Given the description of an element on the screen output the (x, y) to click on. 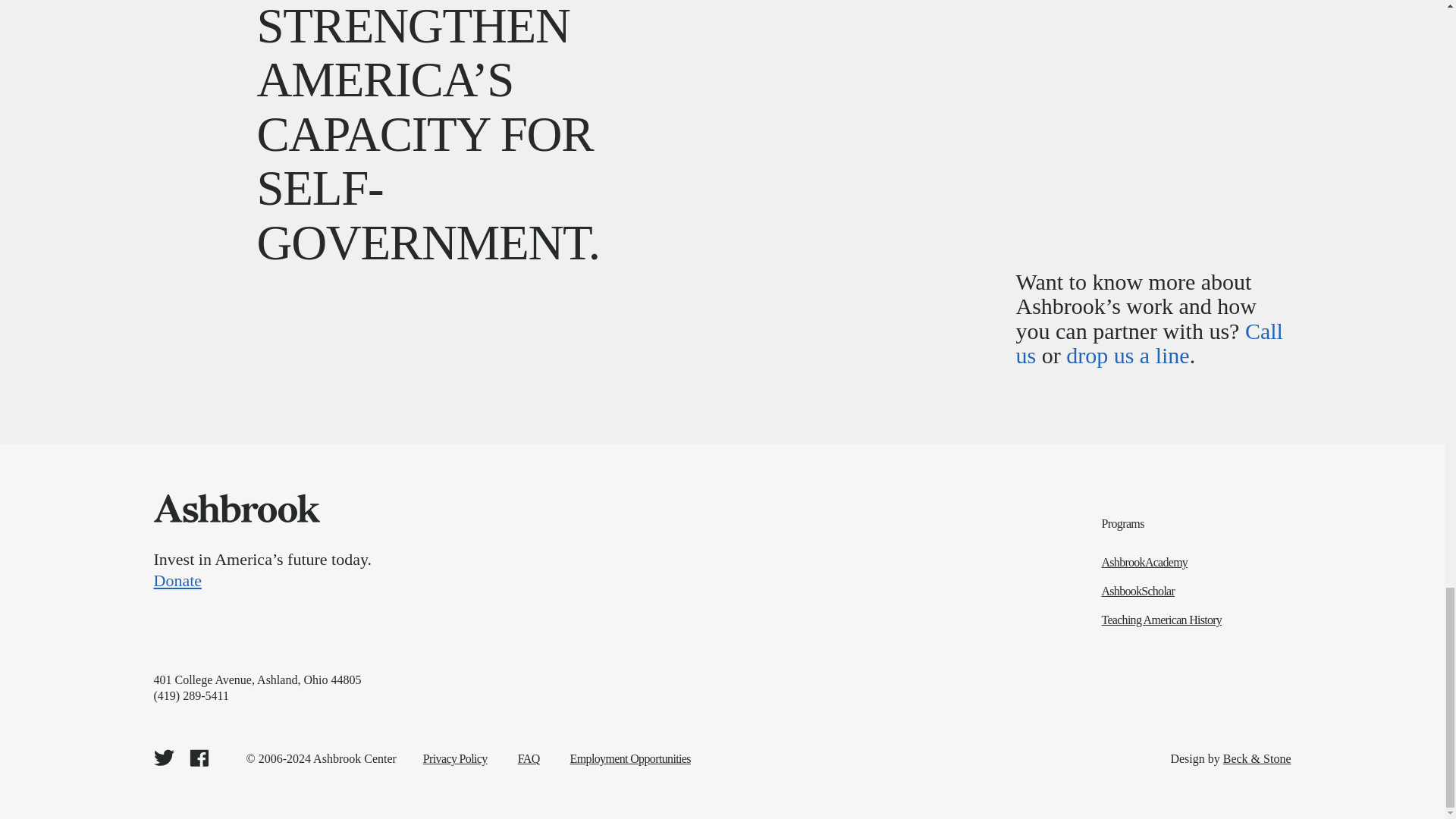
Teaching American History (1196, 620)
Privacy Policy (455, 758)
AshbookScholar (1196, 590)
Employment Opportunities (630, 758)
Call us (1149, 342)
drop us a line (1127, 355)
Ashbrook Center (235, 507)
AshbrookAcademy (1196, 562)
FAQ (529, 758)
Donate (531, 580)
